Given the description of an element on the screen output the (x, y) to click on. 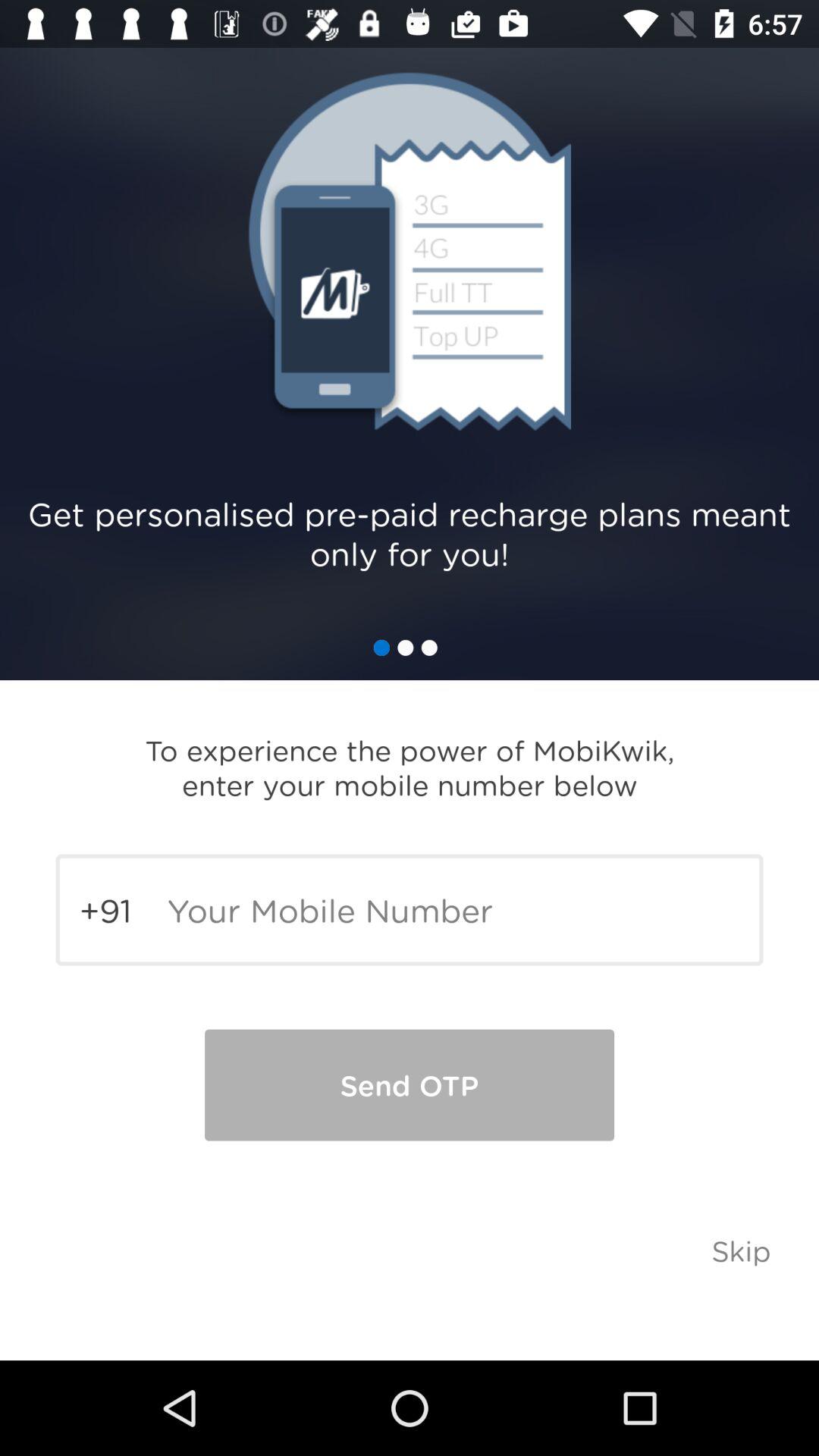
choose the send otp icon (409, 1084)
